Given the description of an element on the screen output the (x, y) to click on. 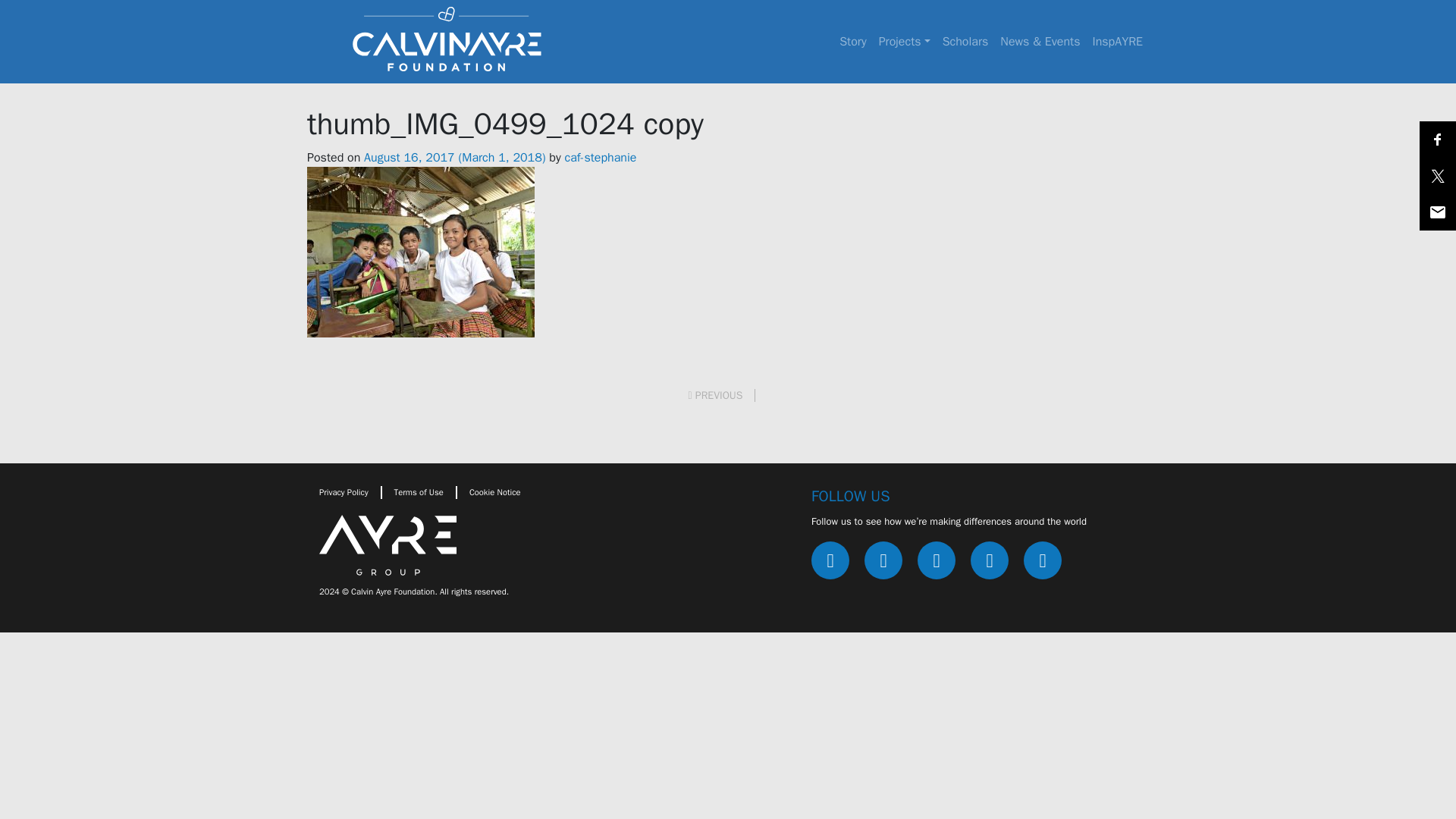
 PREVIOUS (721, 395)
caf-stephanie (600, 157)
Scholars (965, 41)
Scholars (965, 41)
InspAYRE (1117, 41)
Projects (904, 41)
Story (852, 41)
our-story (852, 41)
Projects (904, 41)
InspAYRE (1117, 41)
